Given the description of an element on the screen output the (x, y) to click on. 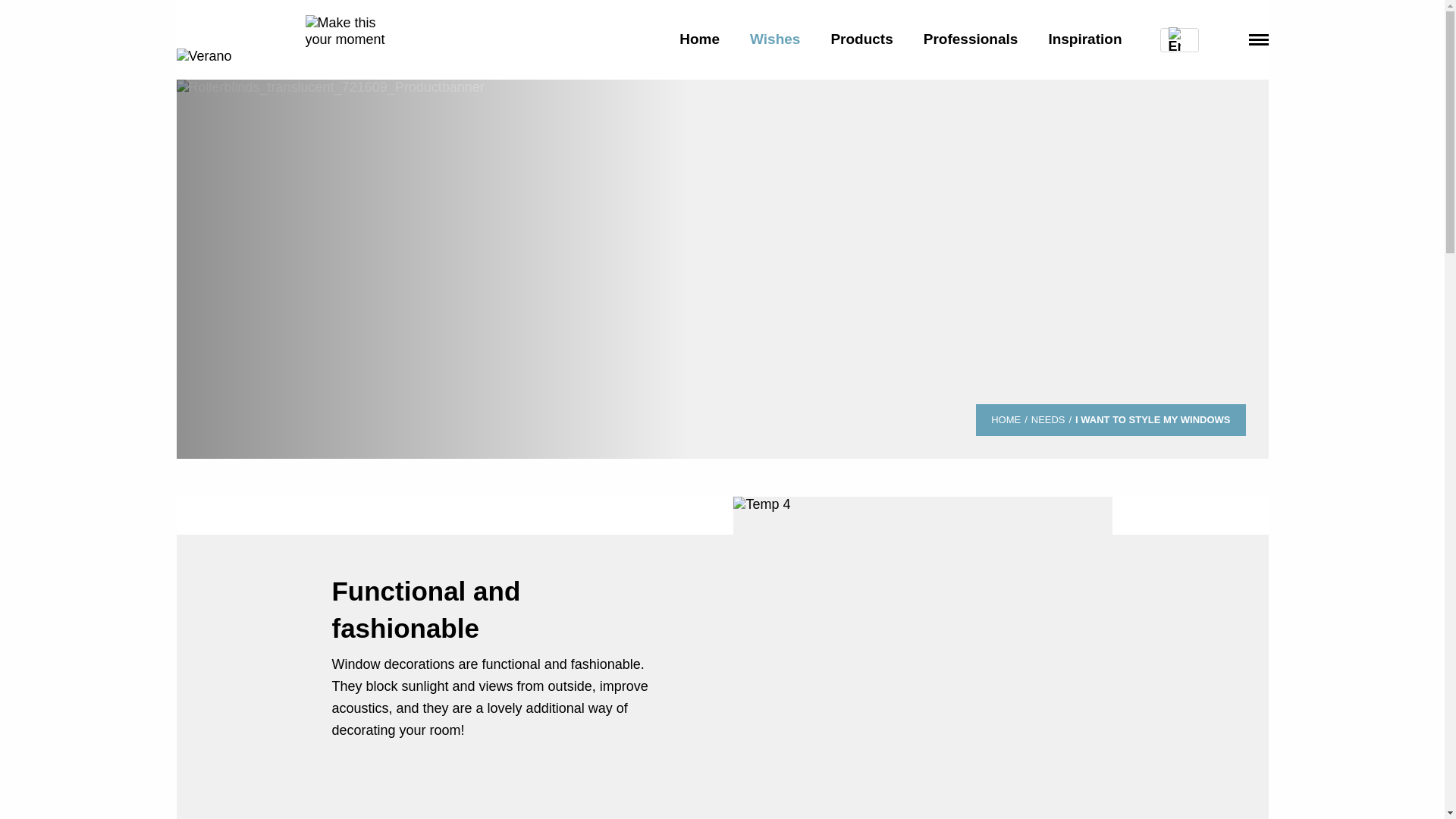
Wishes (775, 39)
Inspiration (1084, 39)
Home (699, 39)
Professionals (970, 39)
English (288, 39)
search (1223, 37)
Products (861, 39)
